Given the description of an element on the screen output the (x, y) to click on. 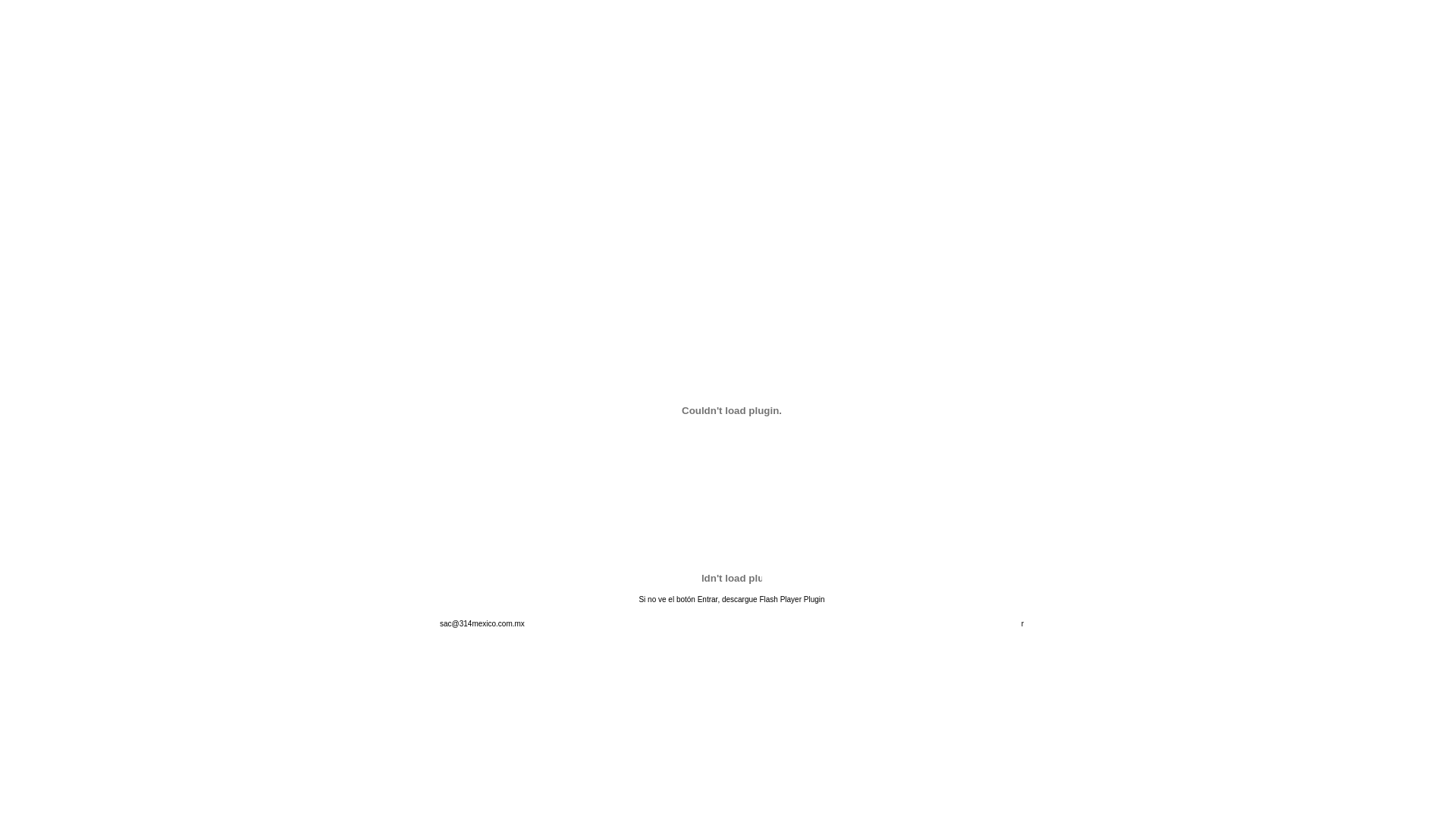
r Element type: text (1022, 623)
sac@314mexico.com.mx Element type: text (481, 623)
Flash Player Plugin Element type: text (791, 599)
